Given the description of an element on the screen output the (x, y) to click on. 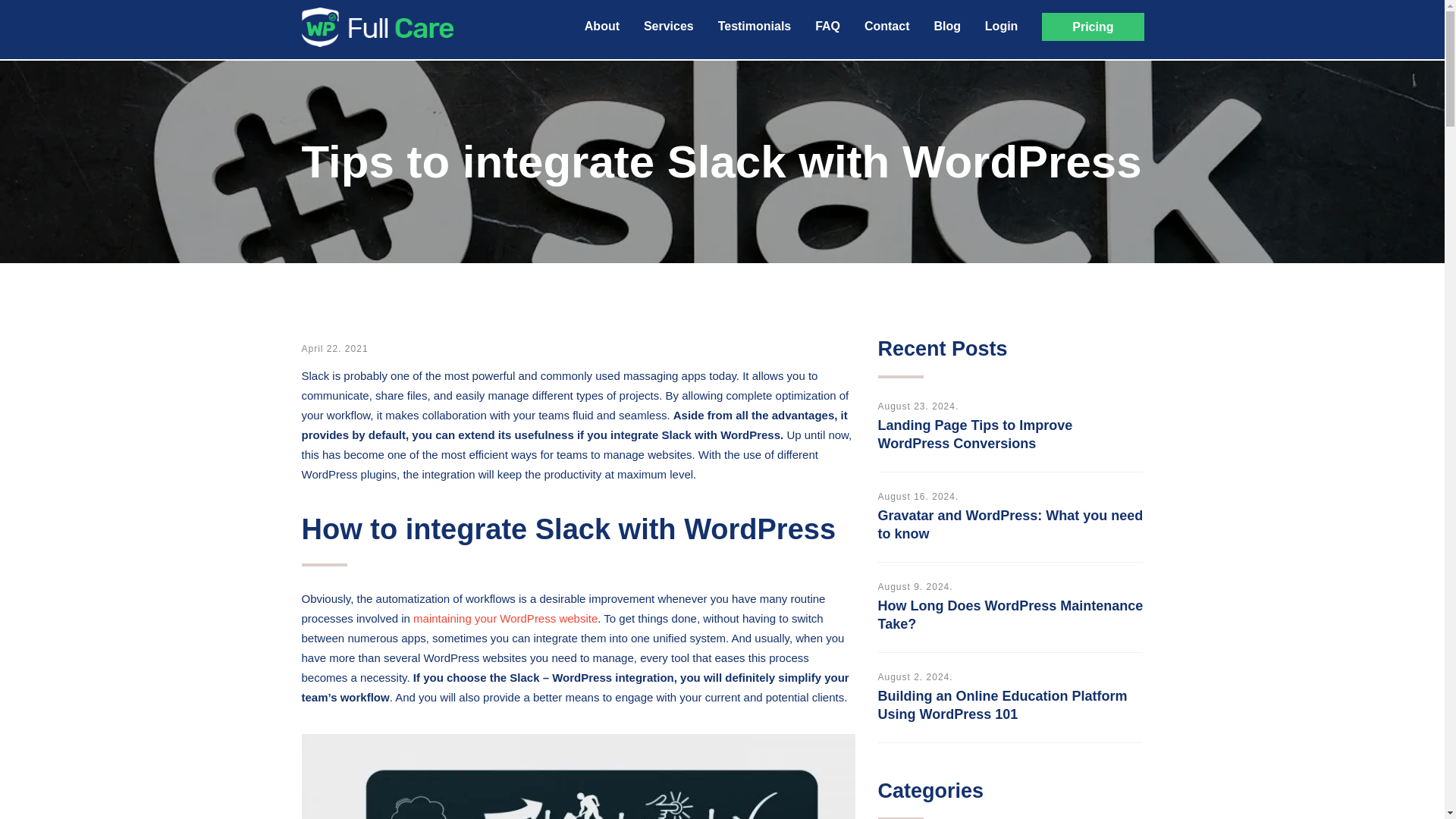
Pricing (1092, 26)
Blog (946, 25)
About (602, 25)
Login (1001, 25)
Testimonials (754, 25)
maintaining your WordPress website (504, 617)
FAQ (827, 25)
Contact (887, 25)
Services (668, 25)
